Given the description of an element on the screen output the (x, y) to click on. 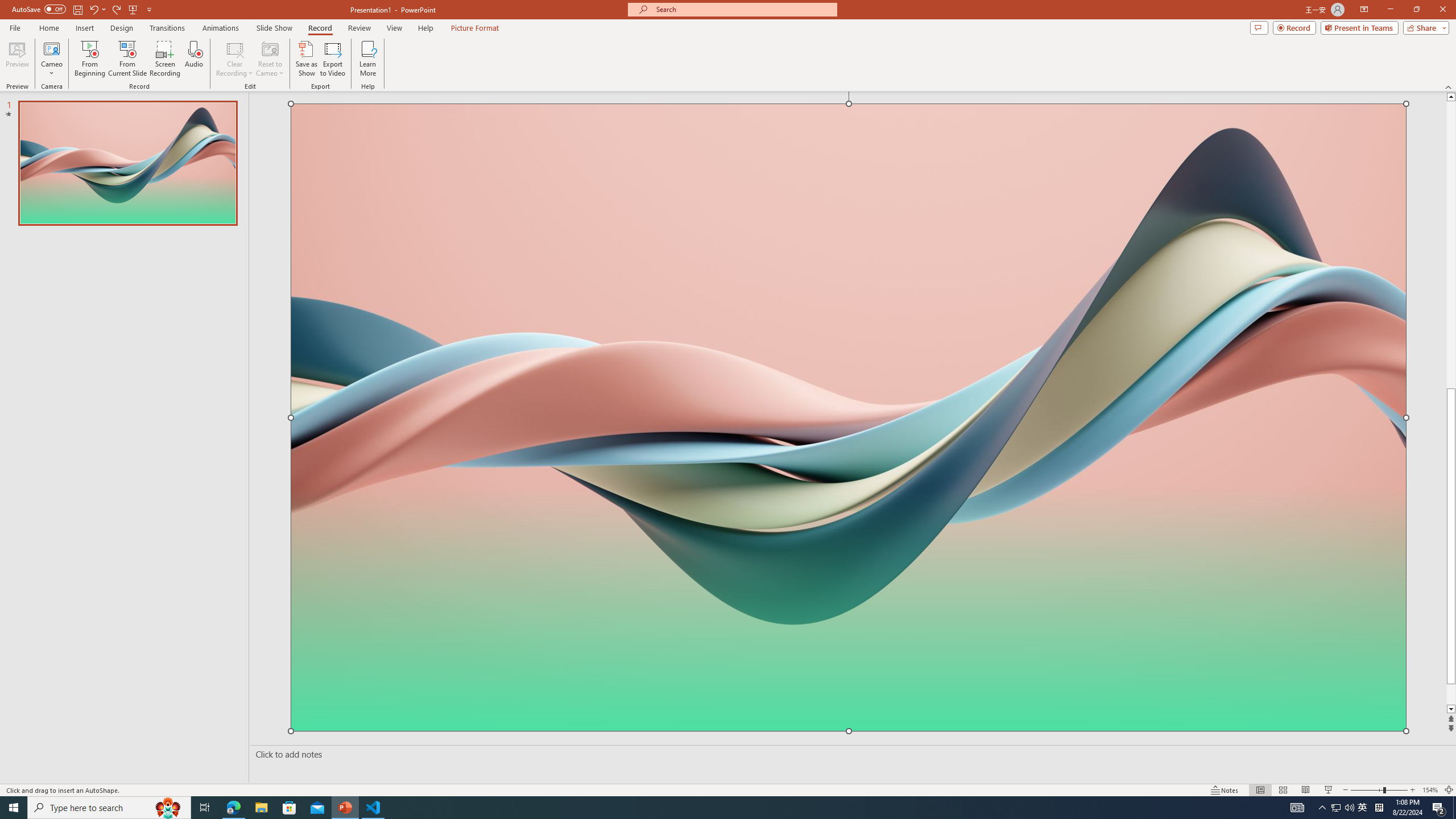
Reset to Cameo (269, 58)
Clear Recording (234, 58)
Screen Recording (165, 58)
Audio (193, 58)
